Given the description of an element on the screen output the (x, y) to click on. 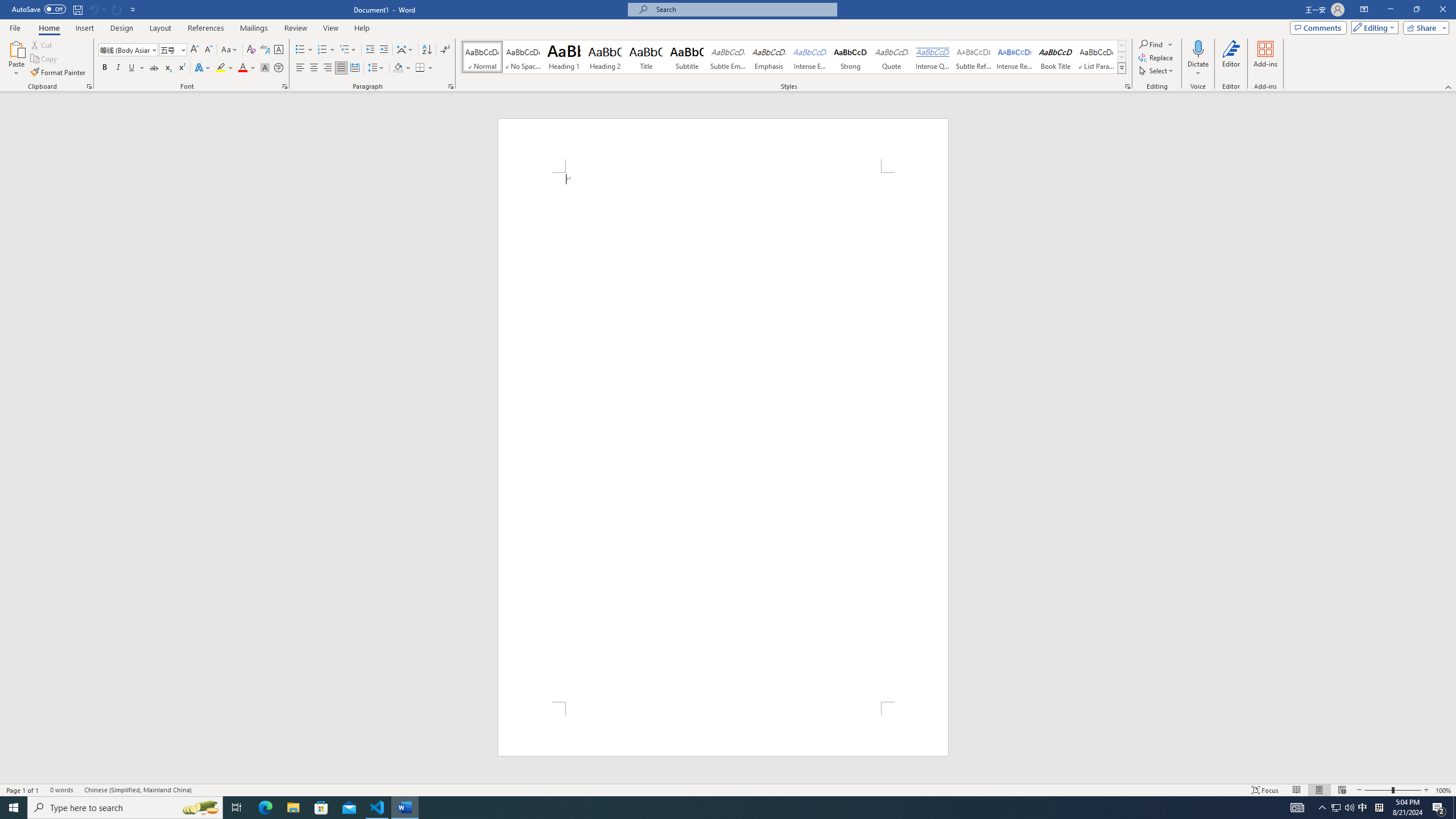
Font Color Red (241, 67)
